Given the description of an element on the screen output the (x, y) to click on. 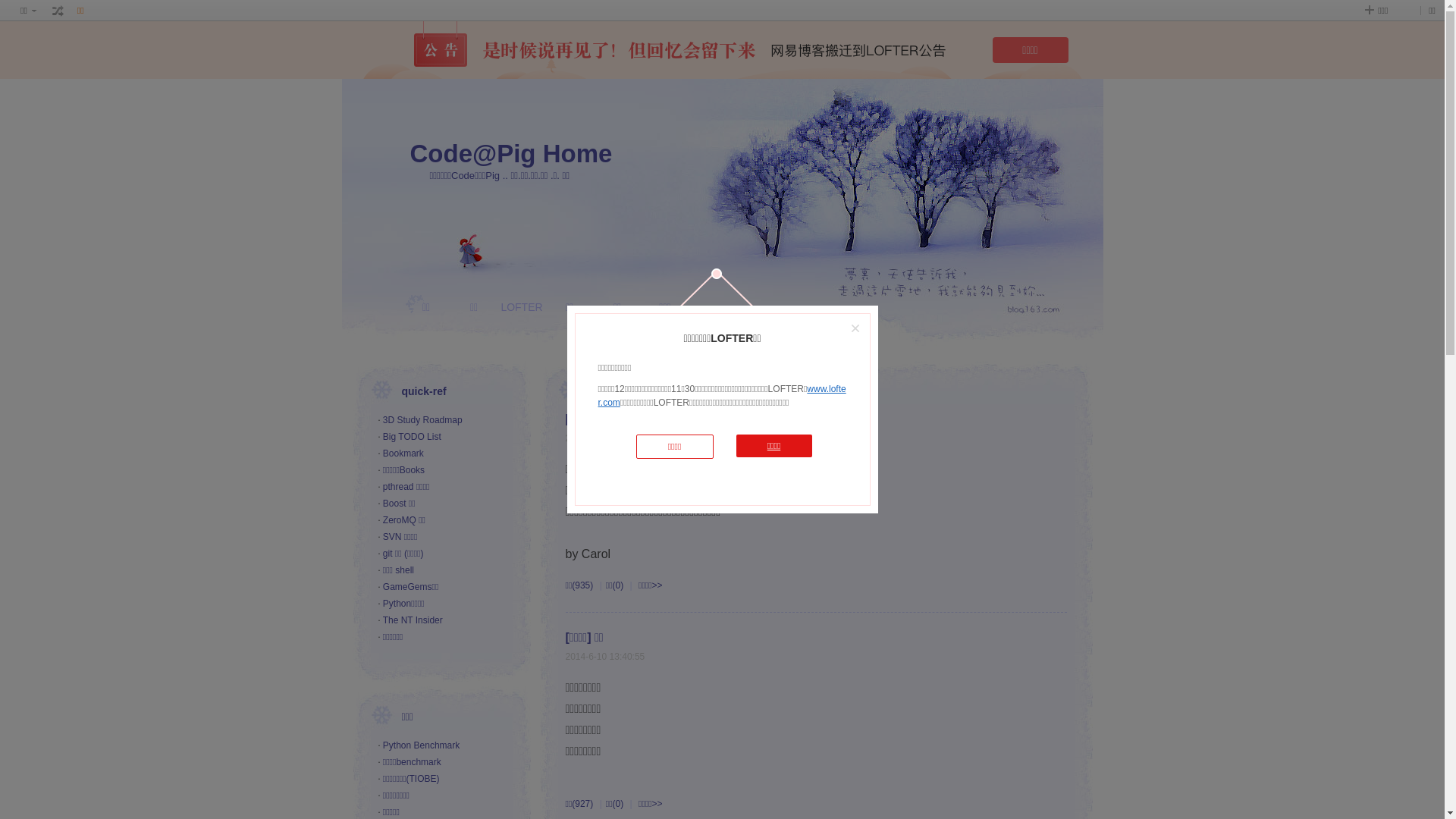
www.lofter.com Element type: text (721, 395)
quick-ref Element type: text (423, 391)
  Element type: text (58, 10)
Big TODO List Element type: text (411, 436)
The NT Insider Element type: text (412, 620)
Python Benchmark Element type: text (420, 745)
3D Study Roadmap Element type: text (422, 419)
LOFTER Element type: text (521, 324)
Bookmark Element type: text (402, 453)
